Given the description of an element on the screen output the (x, y) to click on. 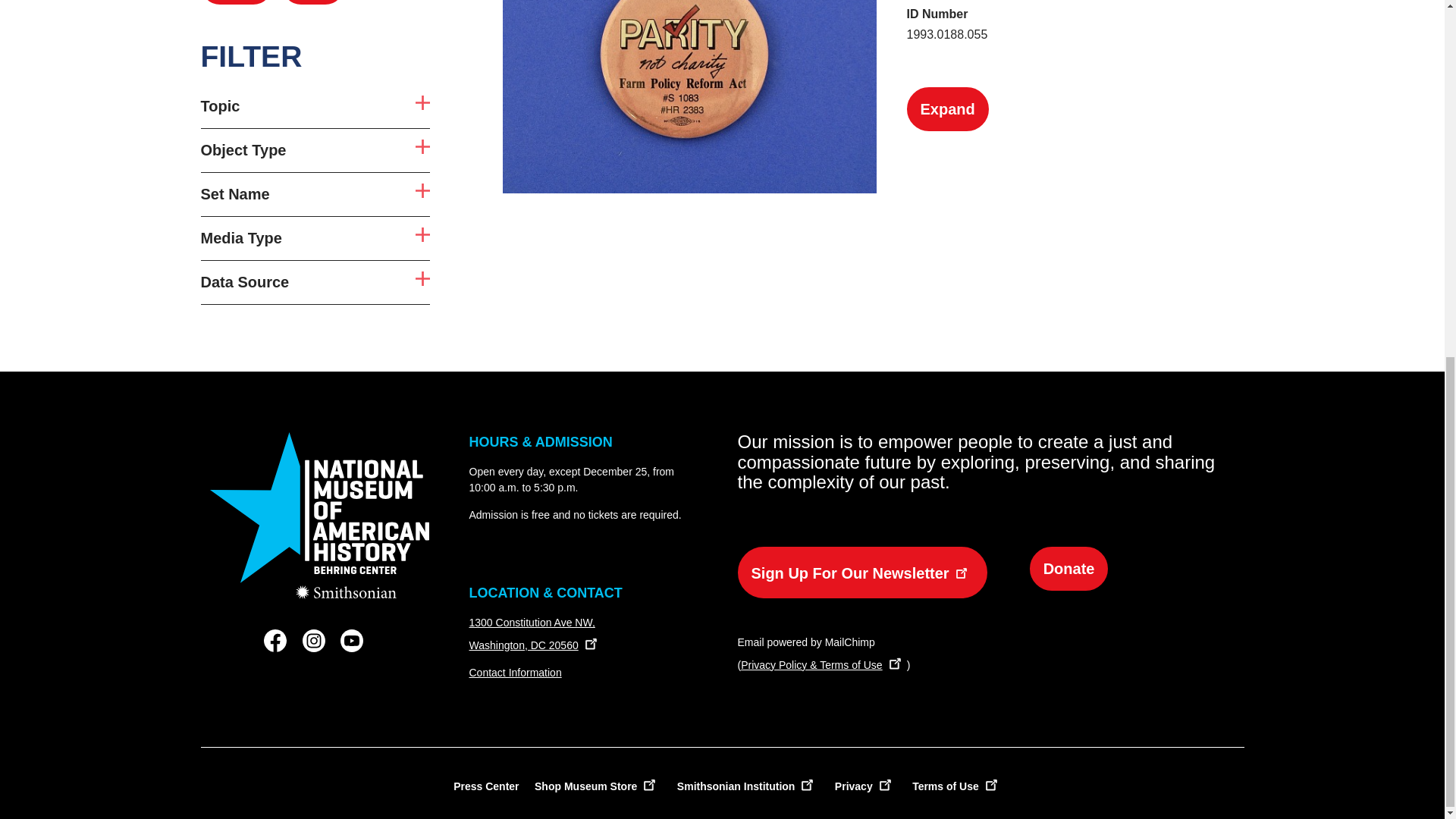
Reset (314, 194)
Search (314, 150)
Reset (312, 2)
Search (314, 238)
